Given the description of an element on the screen output the (x, y) to click on. 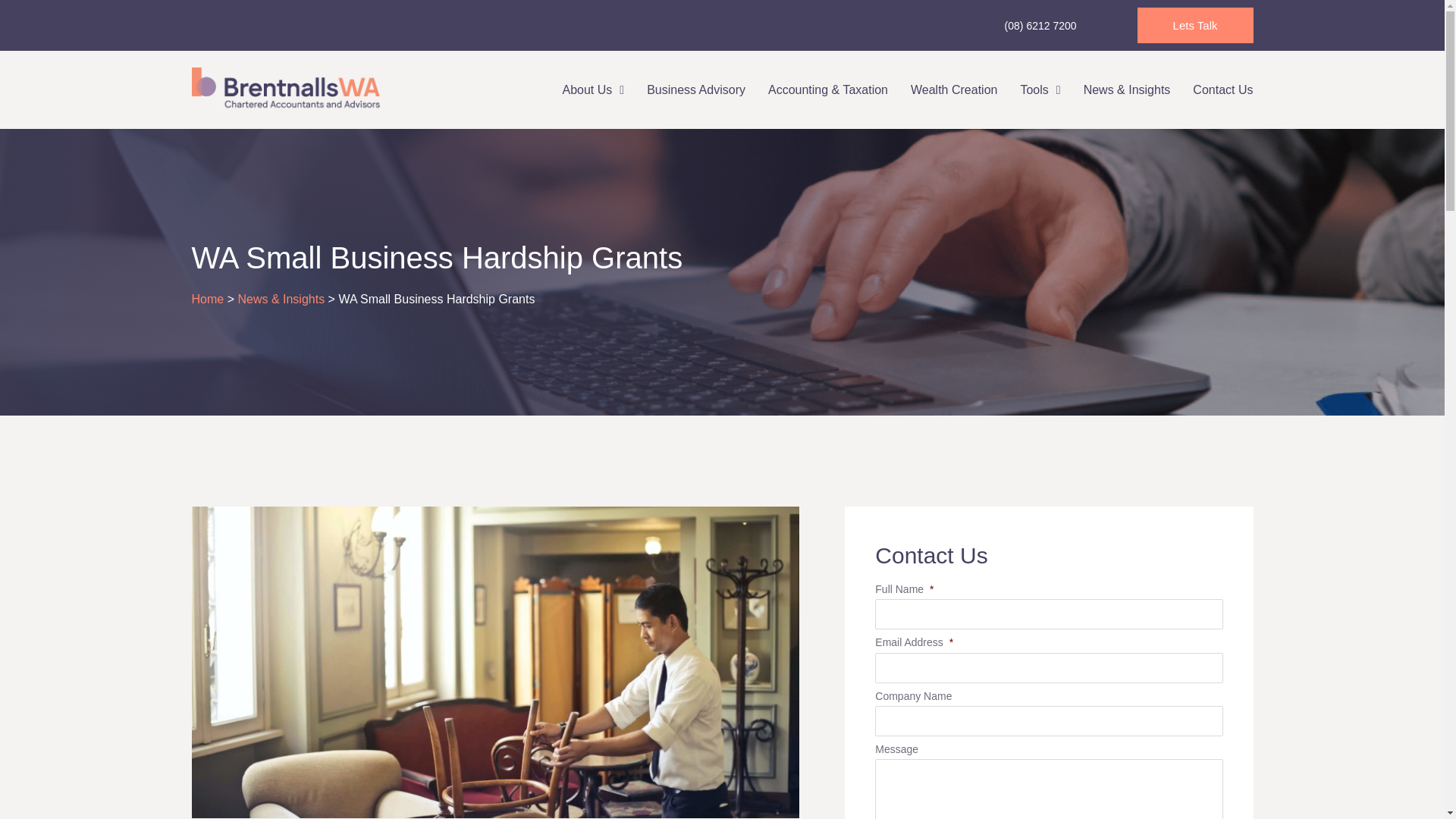
About Us (592, 89)
Home (207, 298)
Lets Talk (1195, 25)
Wealth Creation (954, 89)
Contact Us (1216, 89)
Business Advisory (695, 89)
Tools (1040, 89)
